Given the description of an element on the screen output the (x, y) to click on. 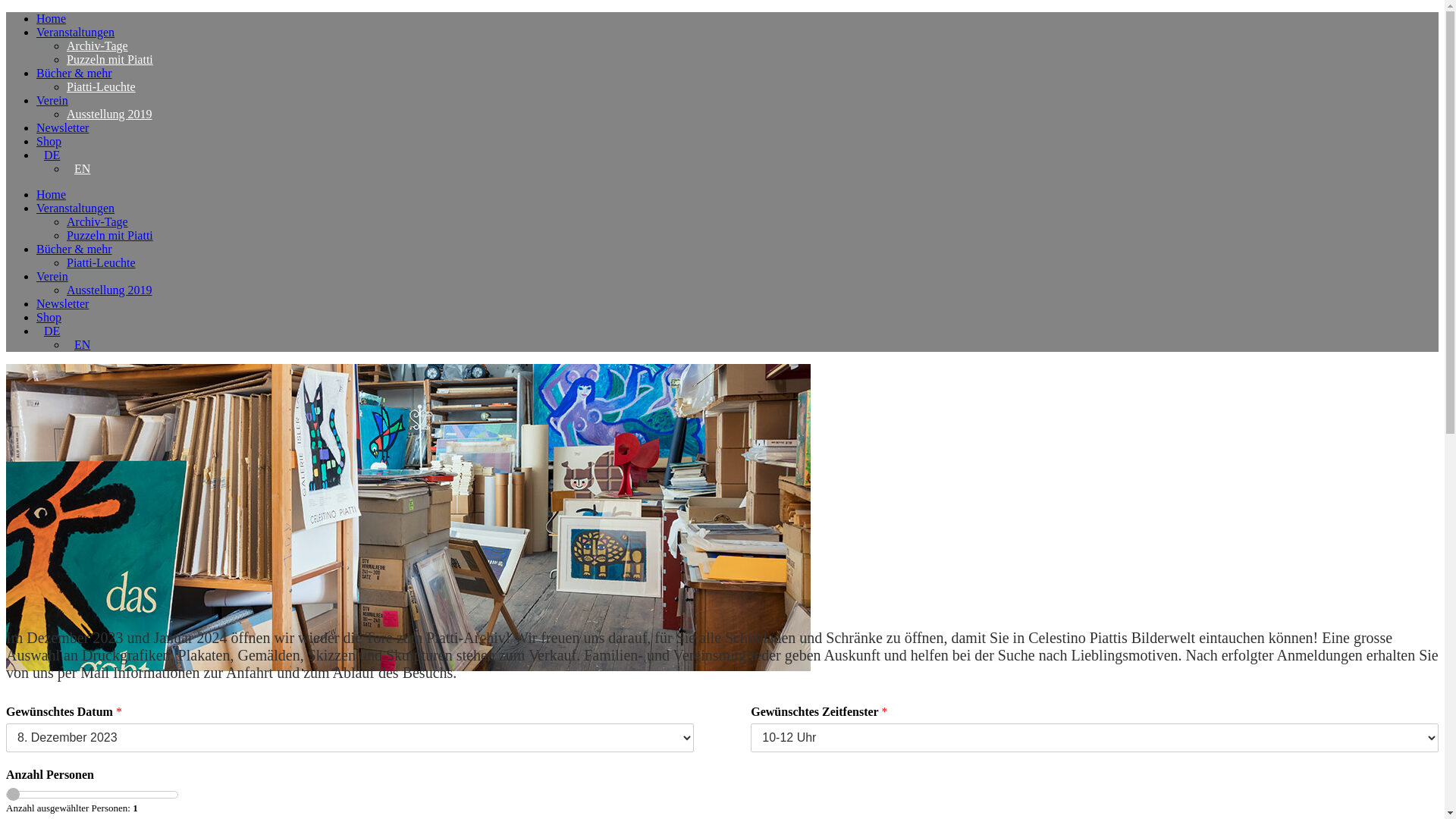
Verein Element type: text (52, 100)
DE Element type: text (51, 330)
EN Element type: text (82, 344)
Archiv-Tage Element type: text (97, 45)
Ausstellung 2019 Element type: text (108, 113)
Piatti-Leuchte Element type: text (100, 86)
Shop Element type: text (48, 140)
Puzzeln mit Piatti Element type: text (109, 59)
Verein Element type: text (52, 275)
Archiv-Tage Element type: text (97, 221)
Veranstaltungen Element type: text (75, 207)
Newsletter Element type: text (62, 303)
Home Element type: text (50, 194)
Ausstellung 2019 Element type: text (108, 289)
Puzzeln mit Piatti Element type: text (109, 235)
Piatti-Leuchte Element type: text (100, 262)
Home Element type: text (50, 18)
Veranstaltungen Element type: text (75, 31)
Newsletter Element type: text (62, 127)
DE Element type: text (51, 154)
EN Element type: text (82, 168)
Shop Element type: text (48, 316)
